Given the description of an element on the screen output the (x, y) to click on. 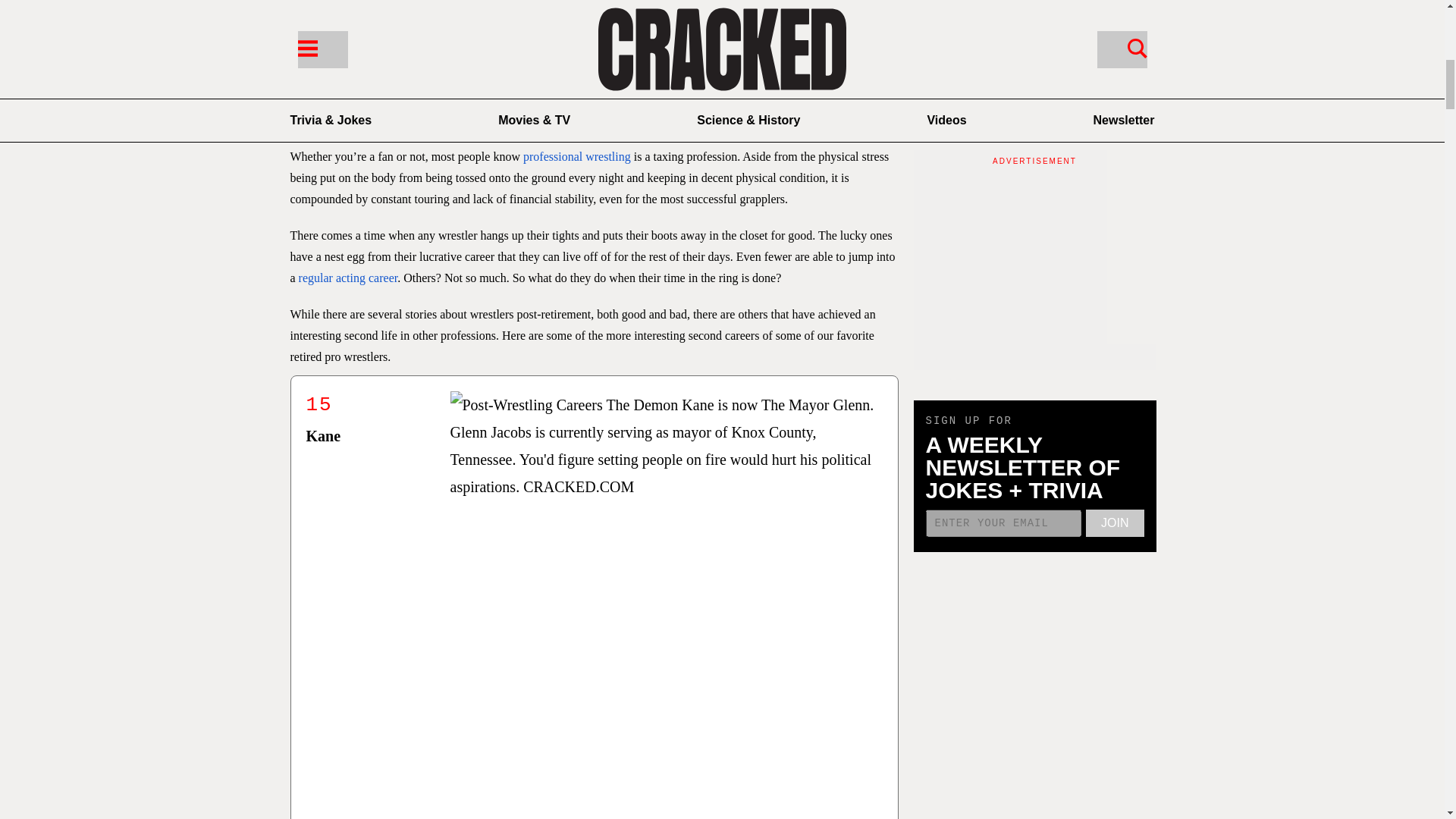
Erik Barnes (594, 91)
Andres Diplotti (388, 91)
professional wrestling (576, 155)
regular acting career (347, 277)
